Given the description of an element on the screen output the (x, y) to click on. 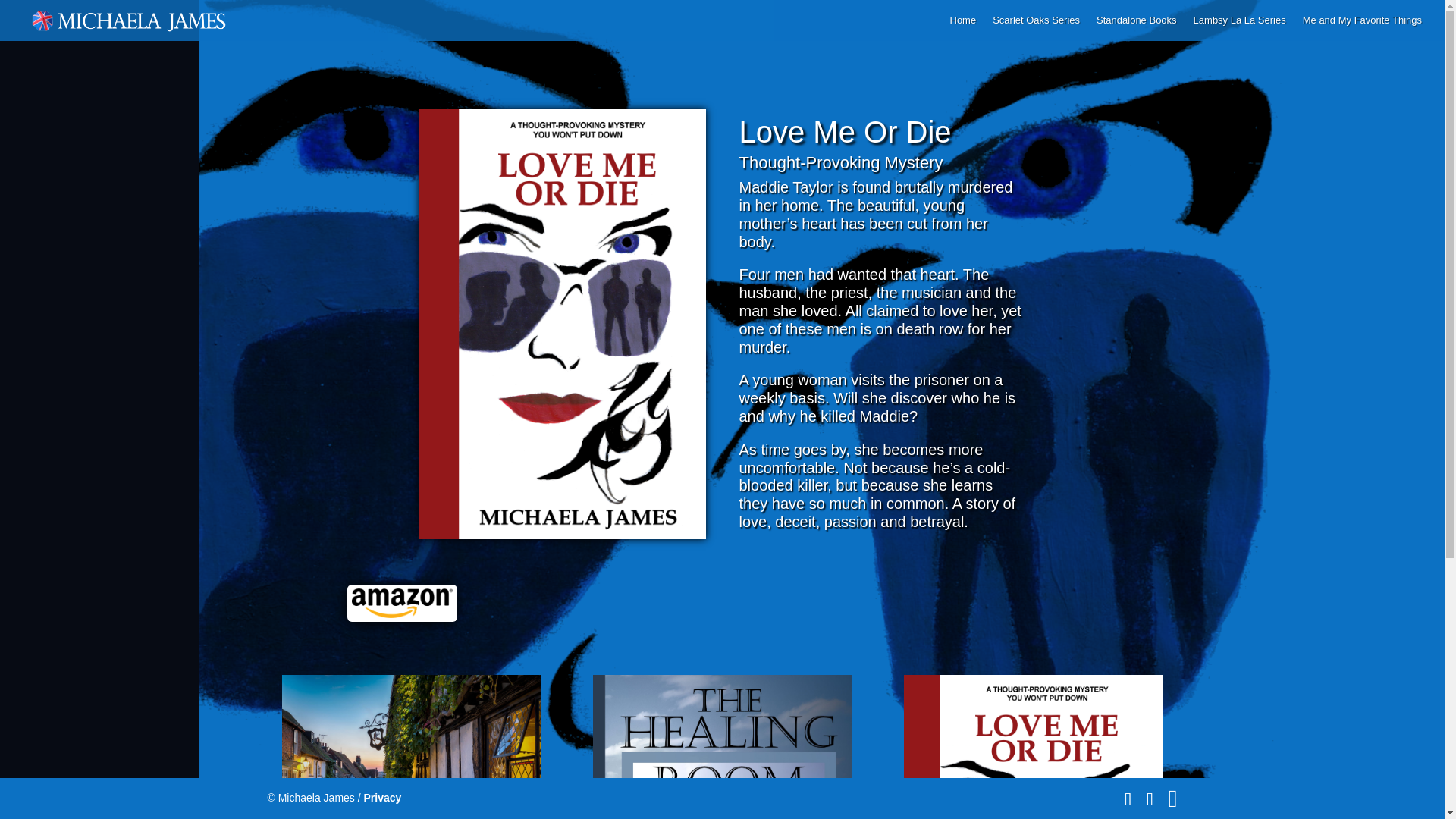
Scarlet Oaks Series (1036, 27)
Standalone Books (1136, 27)
Home (962, 27)
Lambsy La La Series (1239, 27)
Privacy (382, 797)
Click Here...... (402, 602)
Me and My Favorite Things (1362, 27)
